Given the description of an element on the screen output the (x, y) to click on. 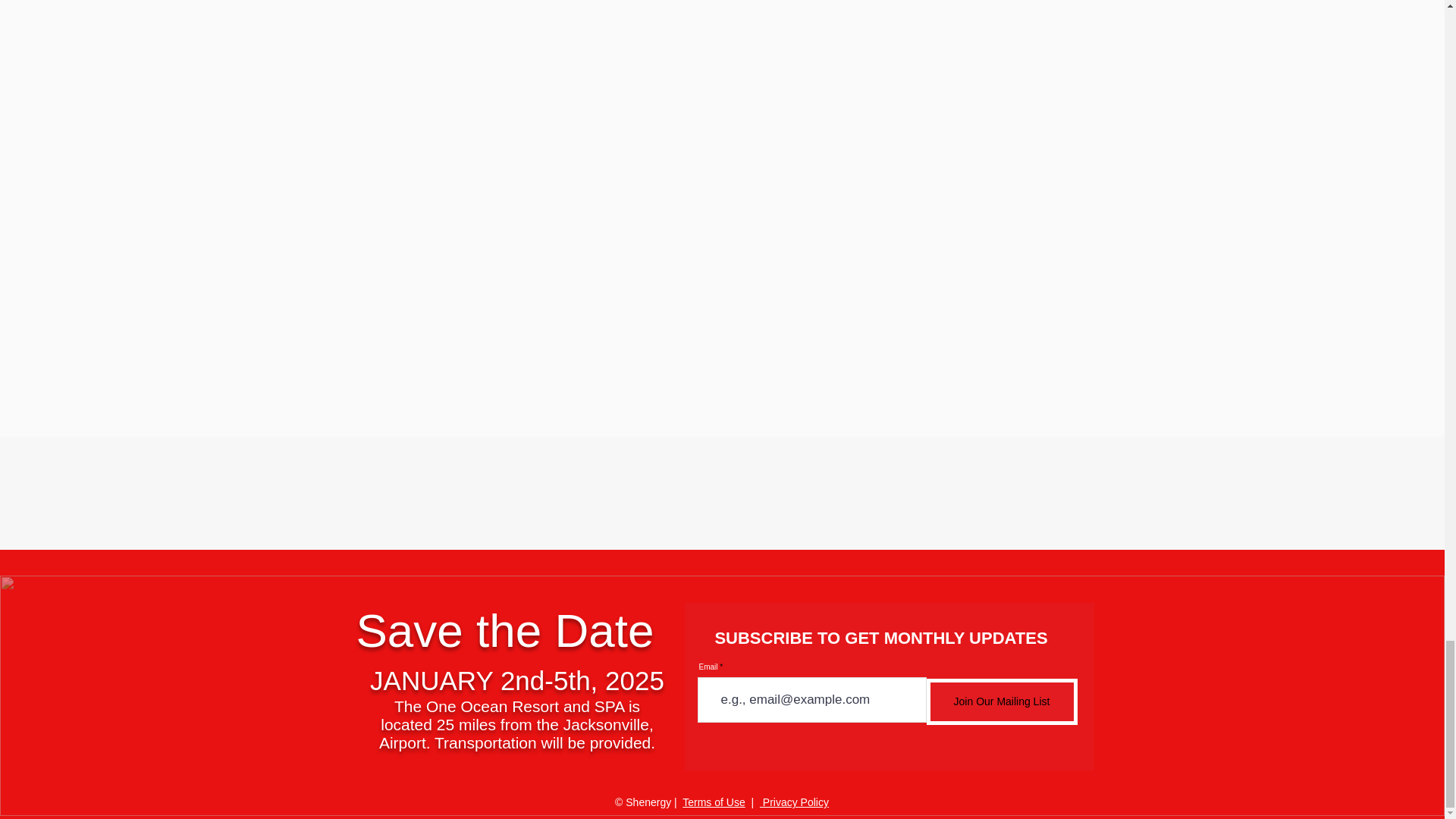
Join Our Mailing List (1001, 701)
Terms of Use (713, 802)
 Privacy Policy (794, 802)
